Given the description of an element on the screen output the (x, y) to click on. 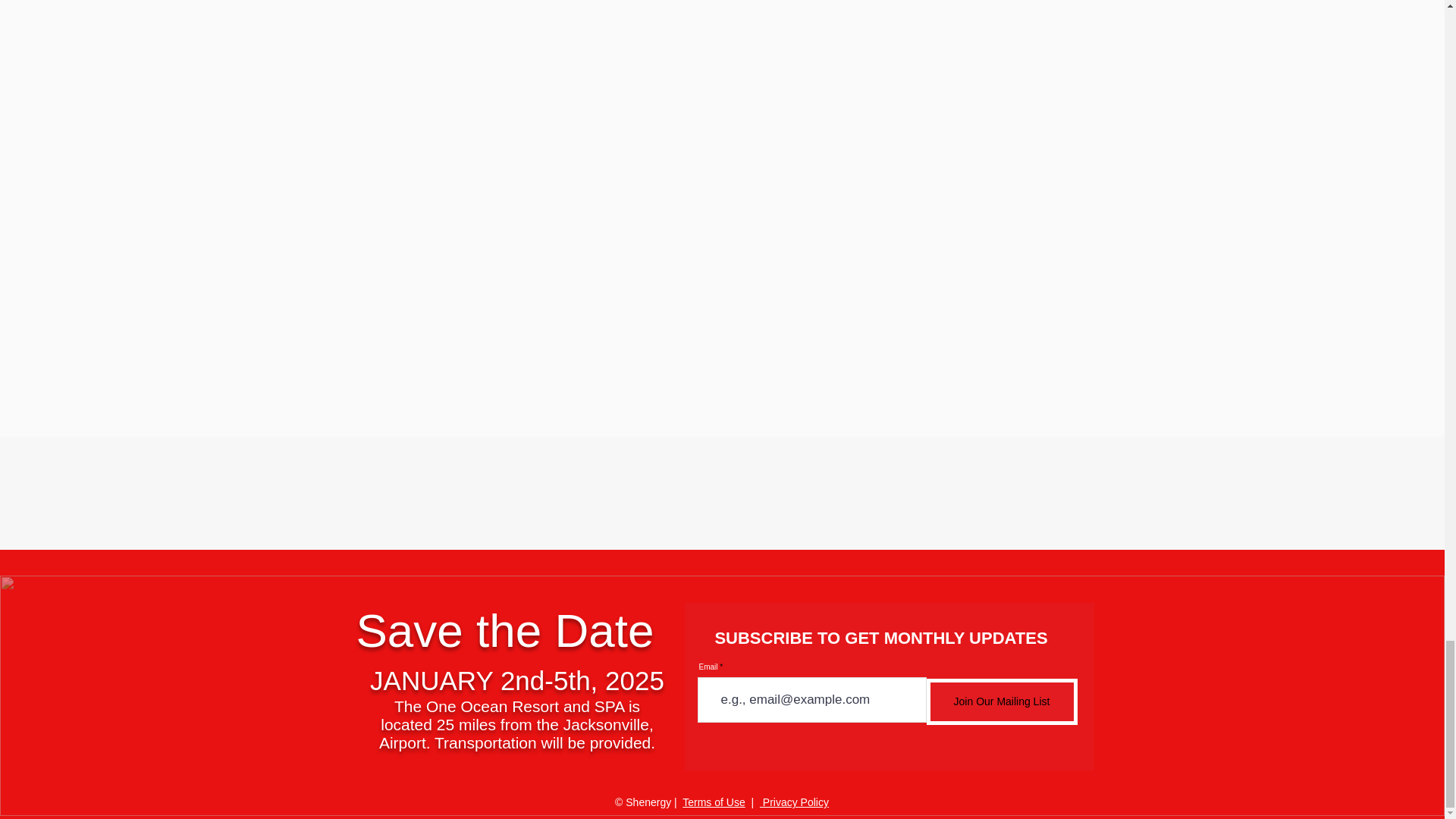
Join Our Mailing List (1001, 701)
Terms of Use (713, 802)
 Privacy Policy (794, 802)
